Given the description of an element on the screen output the (x, y) to click on. 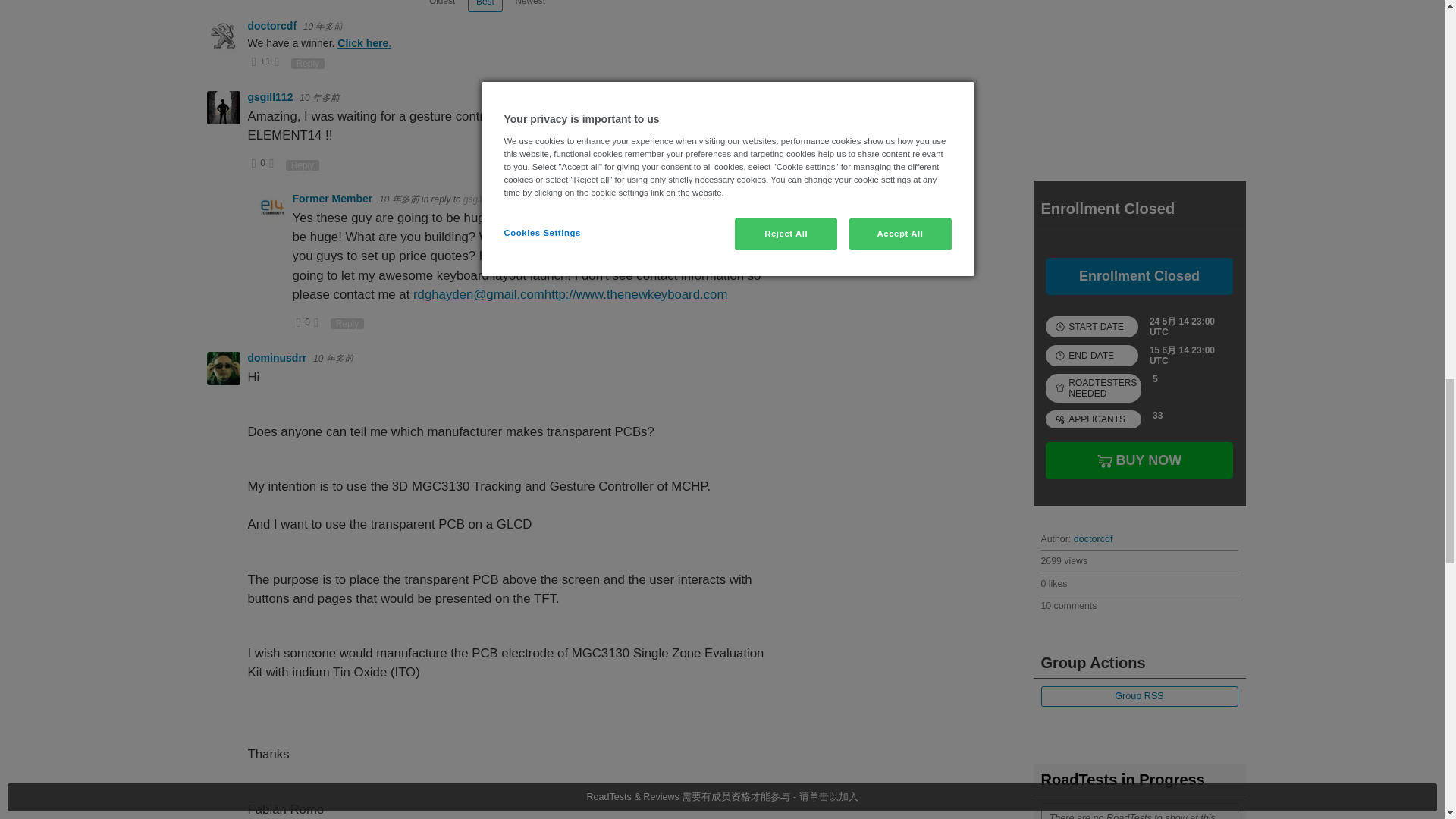
Enrollment Closed (1138, 275)
